Given the description of an element on the screen output the (x, y) to click on. 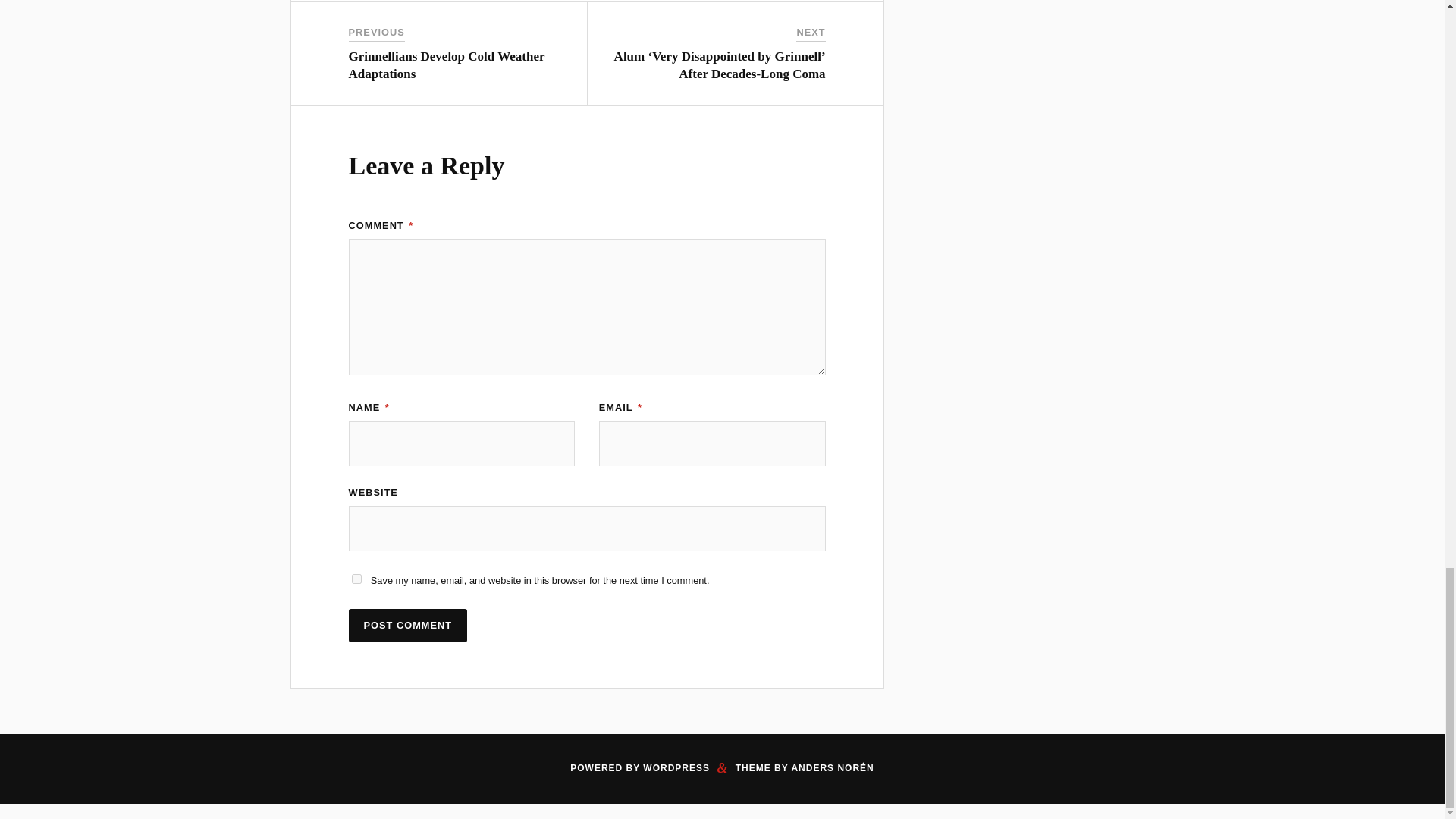
Grinnellians Develop Cold Weather Adaptations (446, 64)
Post Comment (408, 625)
Post Comment (408, 625)
yes (356, 578)
